Given the description of an element on the screen output the (x, y) to click on. 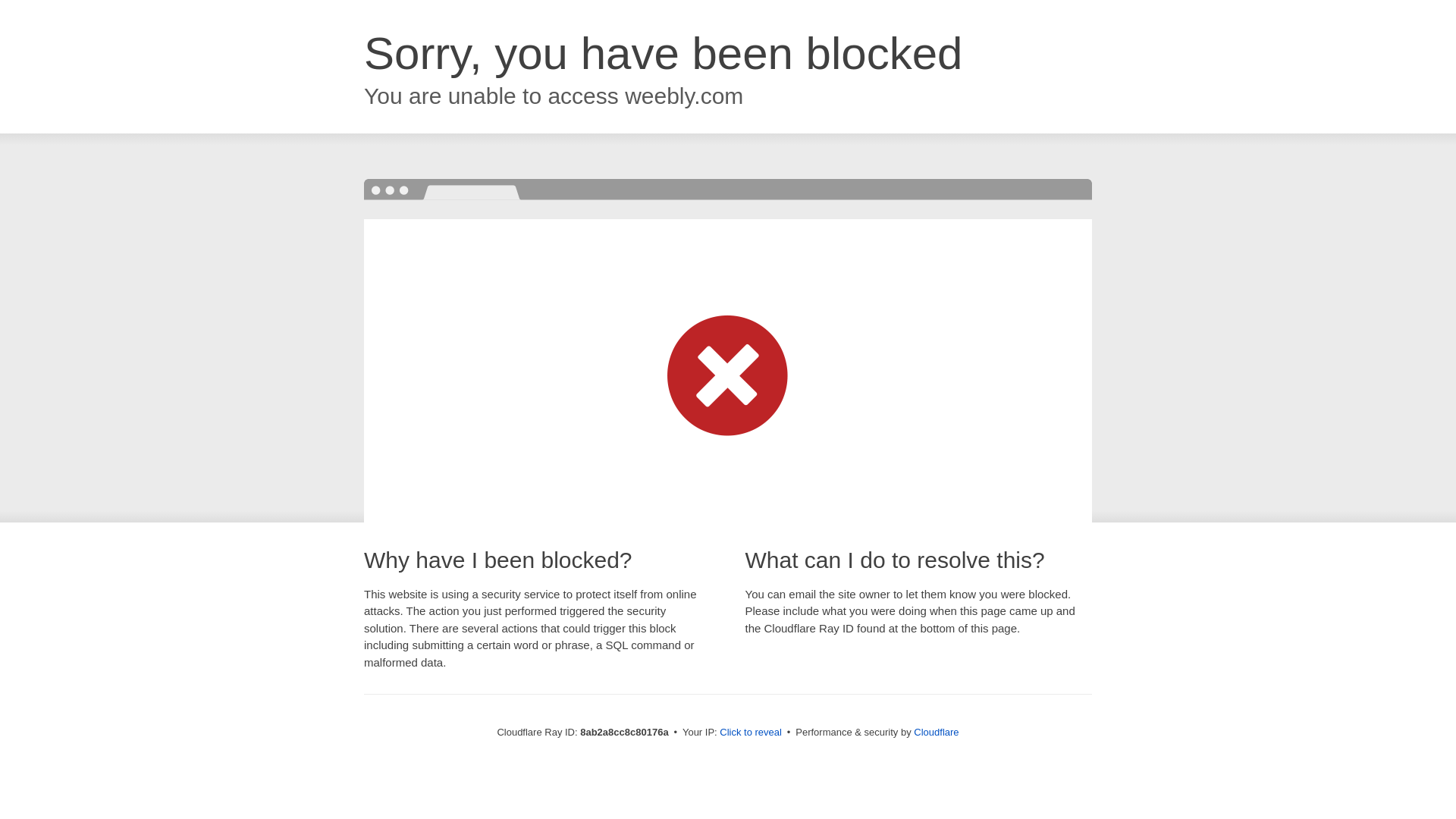
Click to reveal (750, 732)
Cloudflare (936, 731)
